Given the description of an element on the screen output the (x, y) to click on. 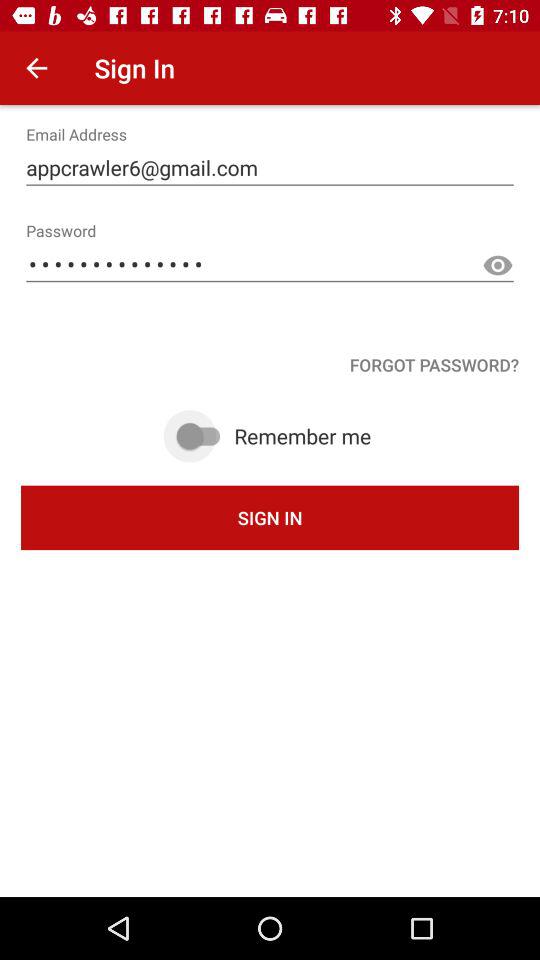
remember me toggle switch (201, 436)
